Given the description of an element on the screen output the (x, y) to click on. 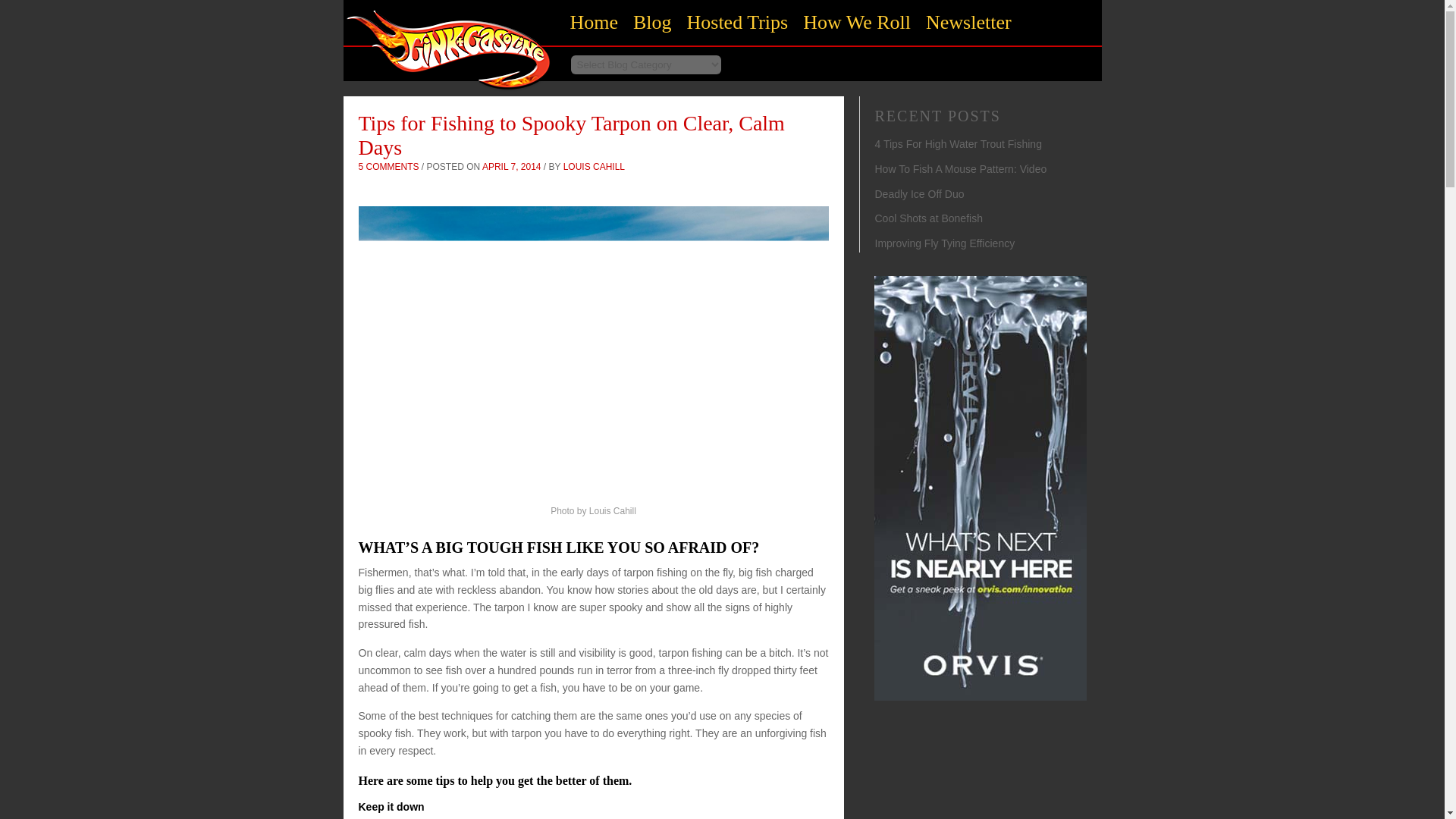
View all posts by Louis Cahill (593, 166)
Blog (652, 22)
How We Roll (856, 22)
APRIL 7, 2014 (511, 166)
Skip to primary content (642, 13)
Hosted Trips (737, 22)
5 COMMENTS (388, 166)
Skip to secondary content (648, 13)
Skip to secondary content (648, 13)
LOUIS CAHILL (593, 166)
Home (448, 93)
5:00 am (511, 166)
Home (594, 22)
Skip to primary content (642, 13)
Newsletter (968, 22)
